Given the description of an element on the screen output the (x, y) to click on. 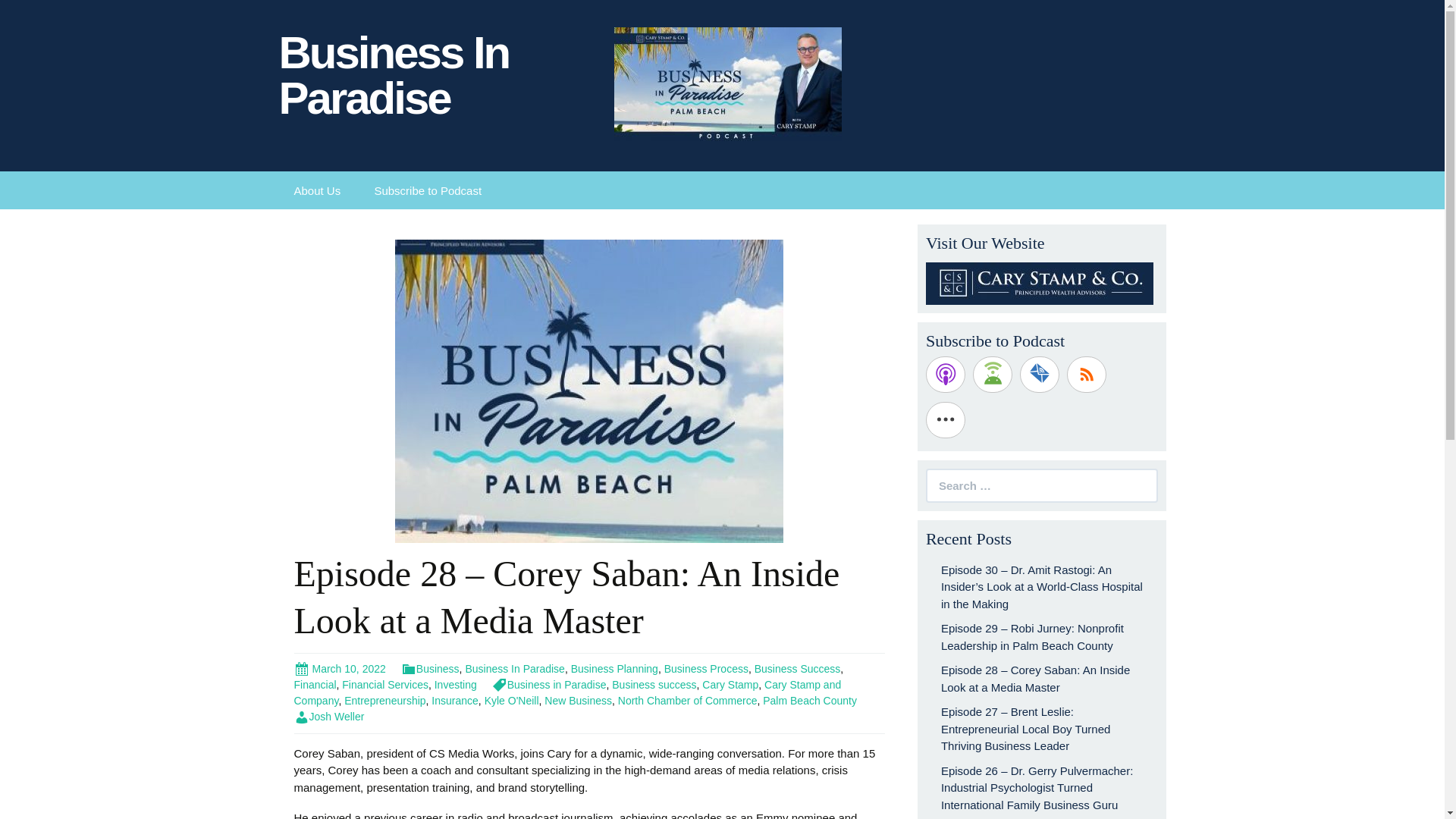
More Subscribe Options (945, 420)
Financial (315, 684)
Business (430, 668)
Cary Stamp (729, 684)
Entrepreneurship (384, 700)
View all posts by Josh Weller (329, 716)
Business In Paradise (514, 668)
Kyle O'Neill (511, 700)
Subscribe on Apple Podcasts (945, 374)
Subscribe to Podcast (427, 190)
Business In Paradise (435, 71)
Business Process (705, 668)
Subscribe via RSS (1086, 374)
Business success (653, 684)
